Given the description of an element on the screen output the (x, y) to click on. 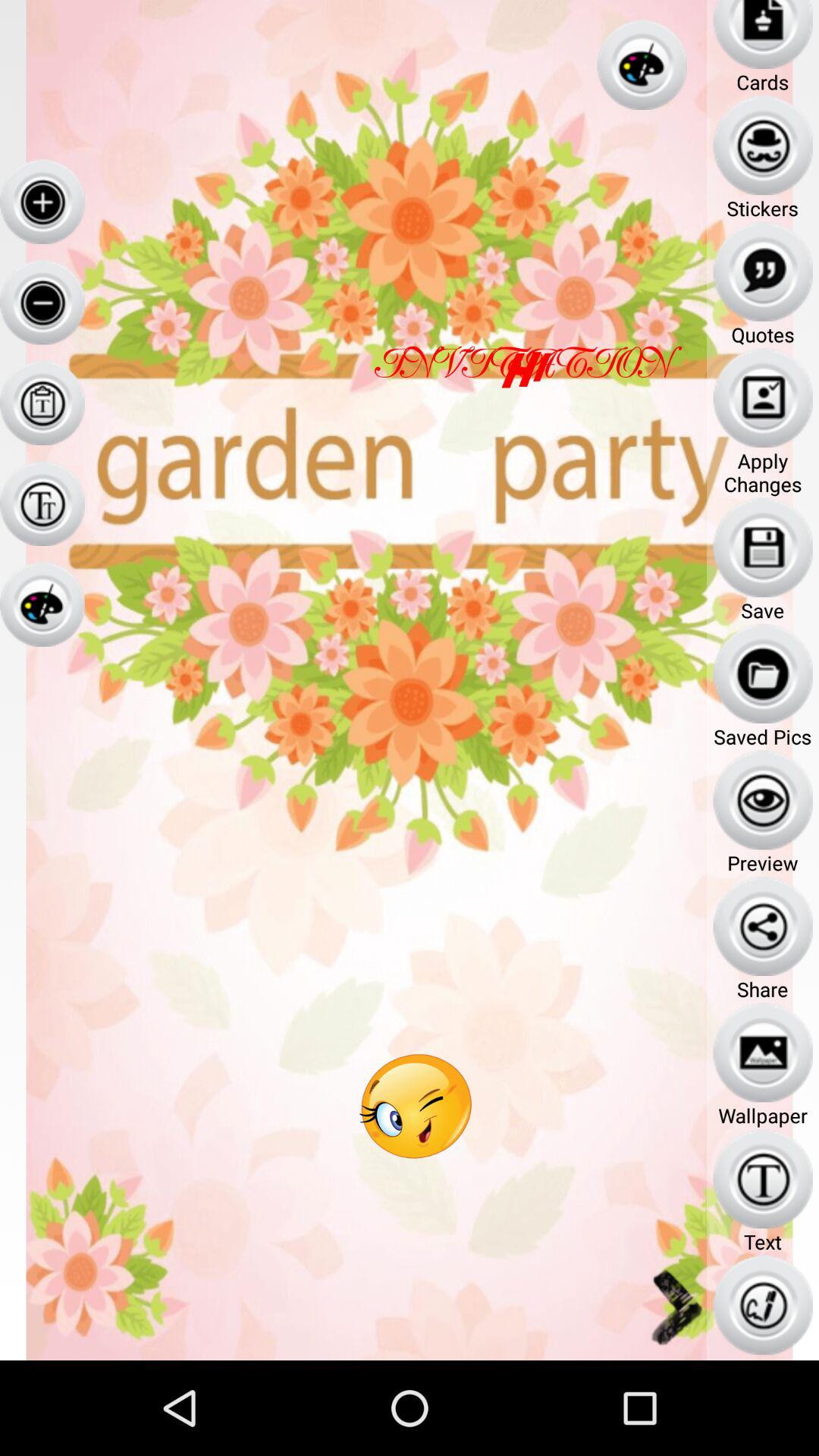
select the share icon (763, 925)
click on the preview icon (763, 799)
click on the right scroll button (674, 1306)
select the icon which above the text wallpaper (763, 1052)
